Given the description of an element on the screen output the (x, y) to click on. 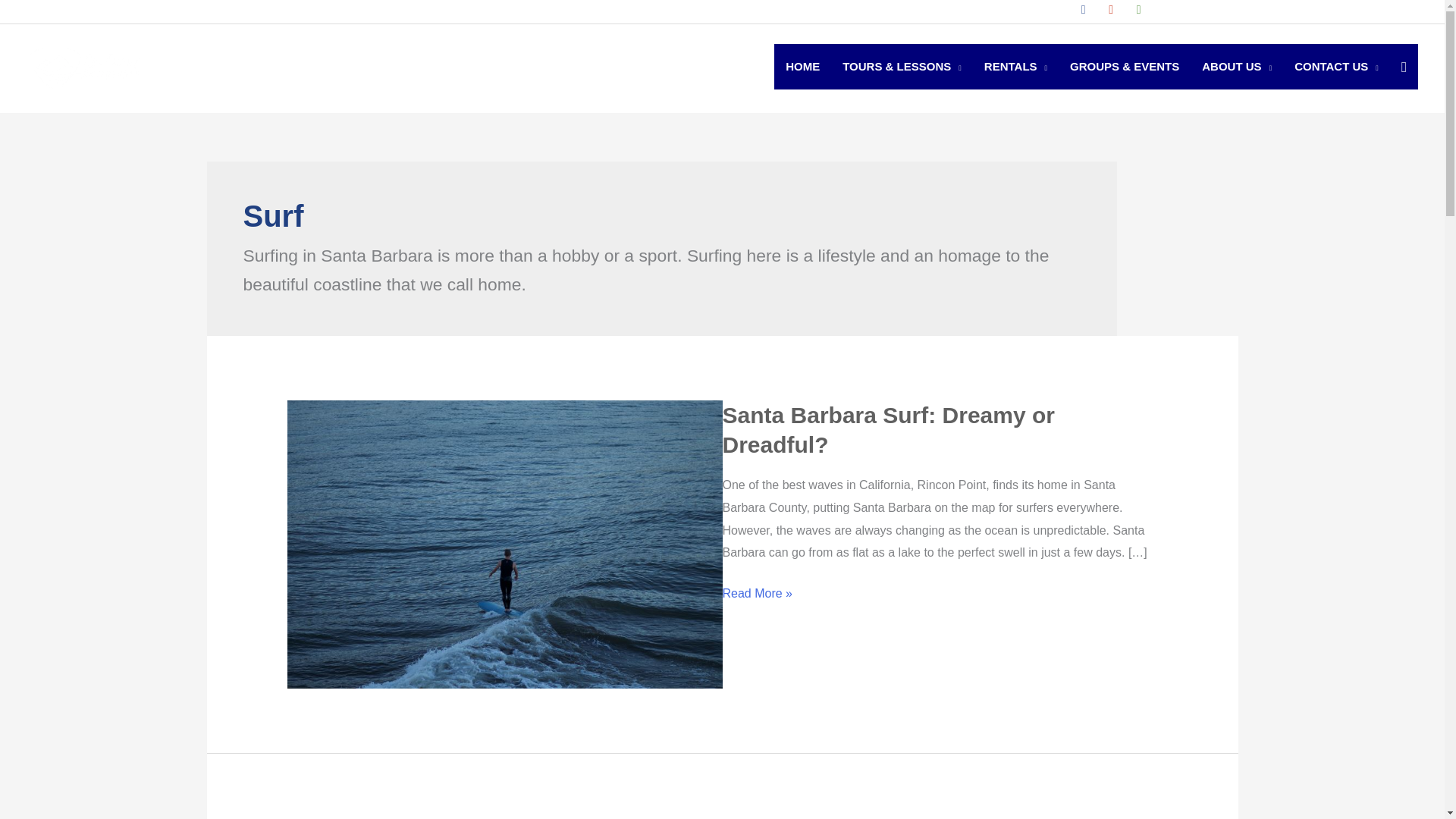
Online Waiver (263, 10)
Buy Gift Cards Here (177, 10)
RENTALS (1015, 66)
Default Label (1110, 8)
HOME (802, 66)
805-628-2444 (89, 10)
ABOUT US (1236, 66)
Default Label (1138, 8)
Facebook (1083, 8)
